Given the description of an element on the screen output the (x, y) to click on. 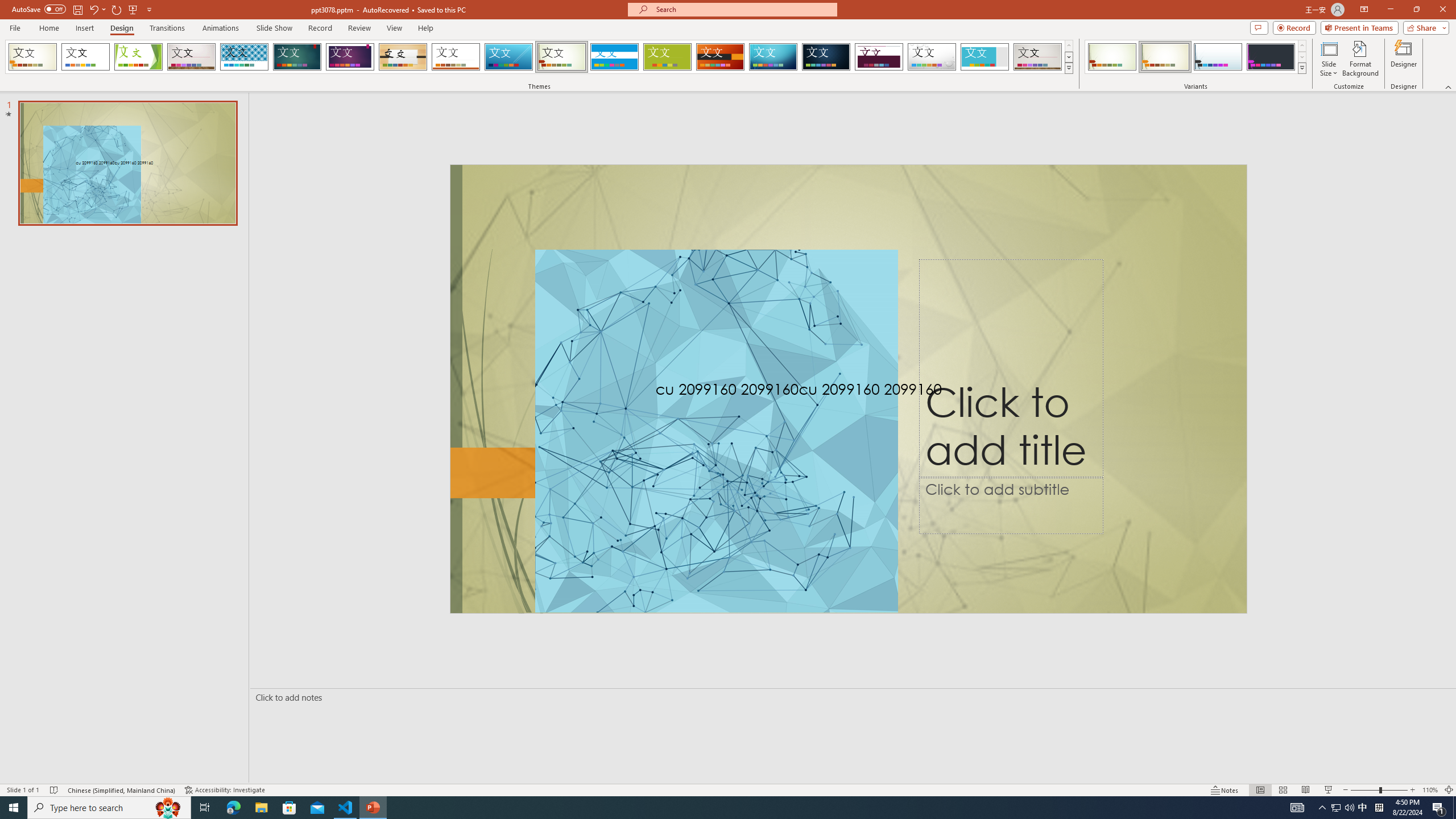
Ion Loading Preview... (296, 56)
Office Theme (85, 56)
Basis Loading Preview... (667, 56)
